Given the description of an element on the screen output the (x, y) to click on. 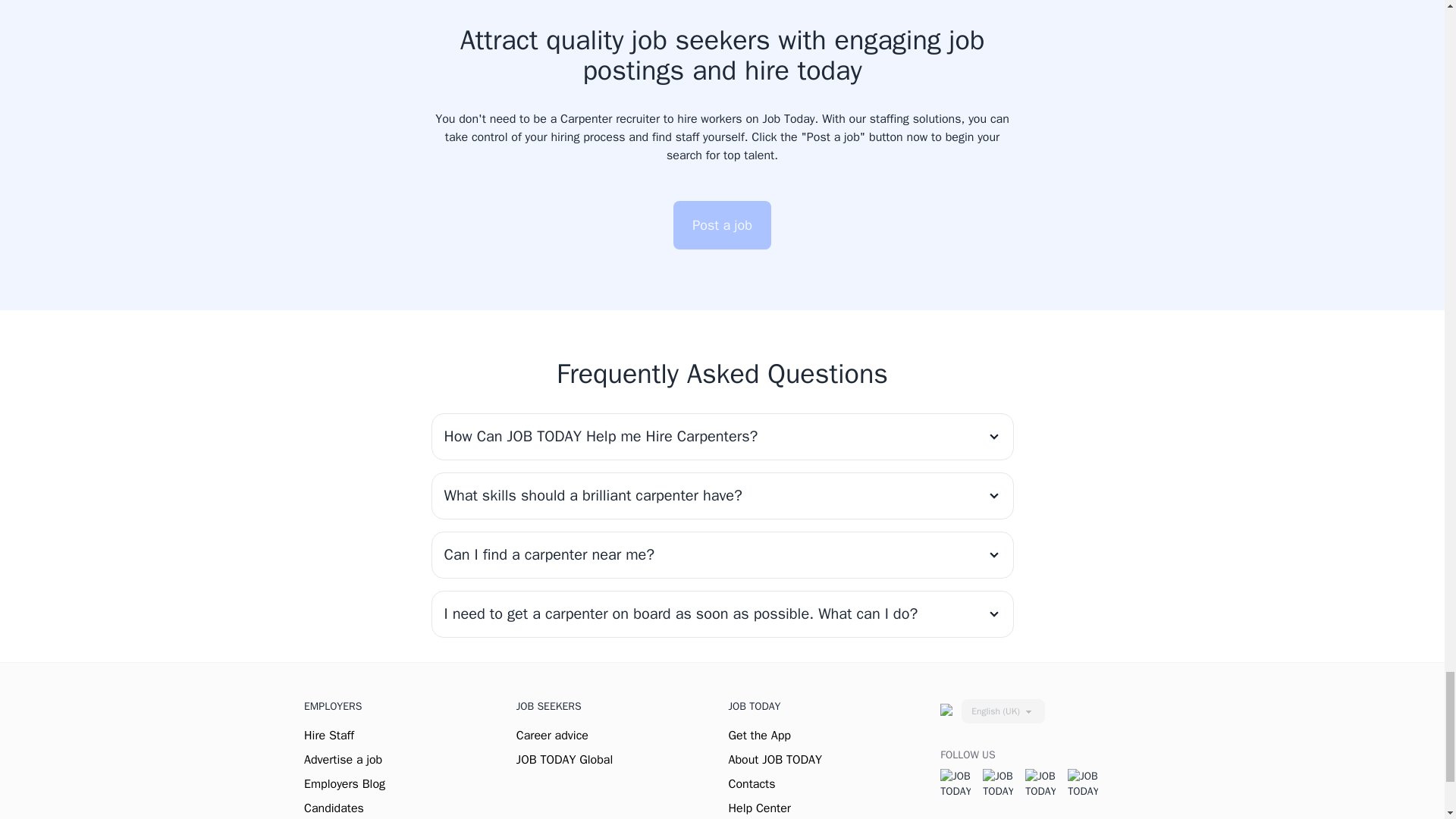
JOB TODAY Instagram (1040, 784)
JOB TODAY Twitter (997, 784)
JOB TODAY LinkedIn (1082, 784)
JOB TODAY Facebook (955, 784)
